Given the description of an element on the screen output the (x, y) to click on. 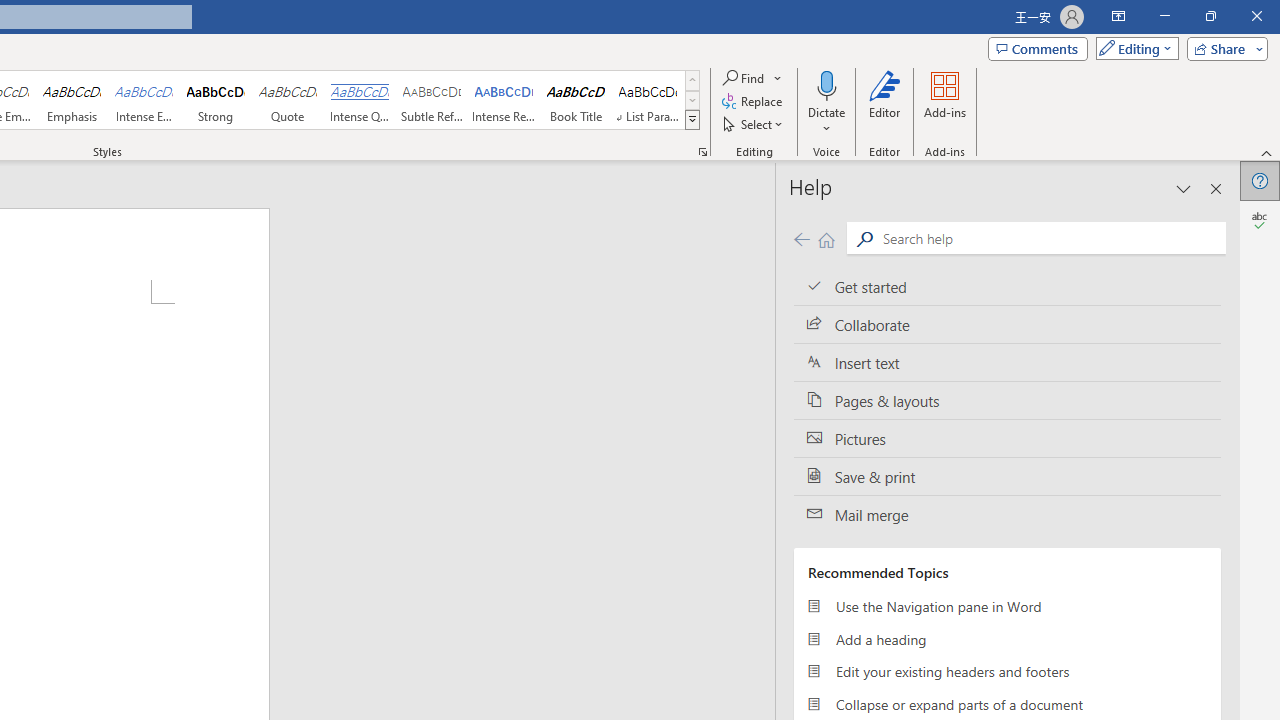
Intense Quote (359, 100)
Class: NetUIImage (692, 119)
Row Down (692, 100)
Replace... (753, 101)
Intense Reference (504, 100)
